Given the description of an element on the screen output the (x, y) to click on. 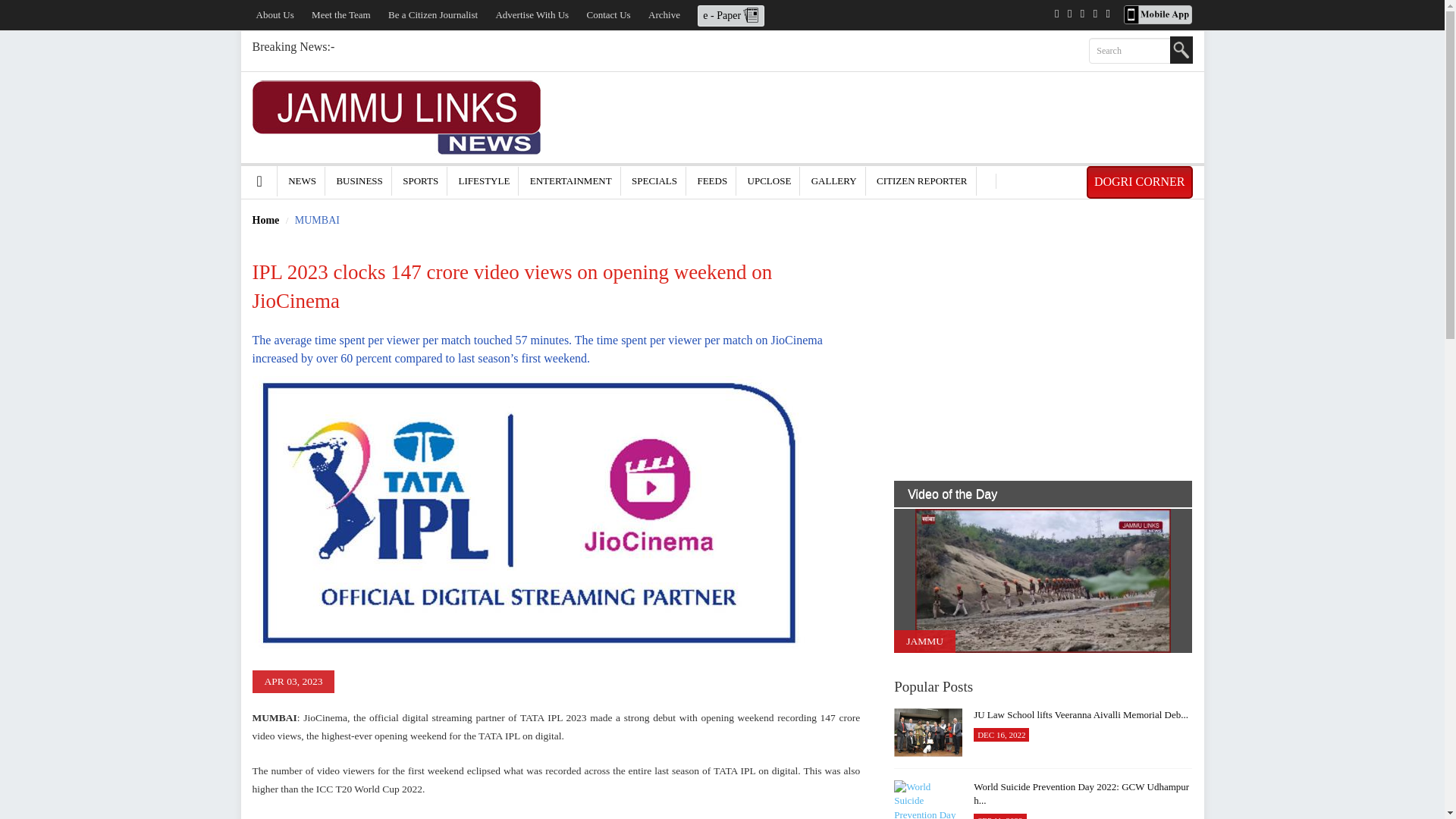
JU Law School lifts Veeranna Aivalli Memorial Deb... (927, 732)
Meet the Team (341, 14)
Contact Us (608, 14)
SPORTS (420, 180)
e - Paper (730, 14)
